Given the description of an element on the screen output the (x, y) to click on. 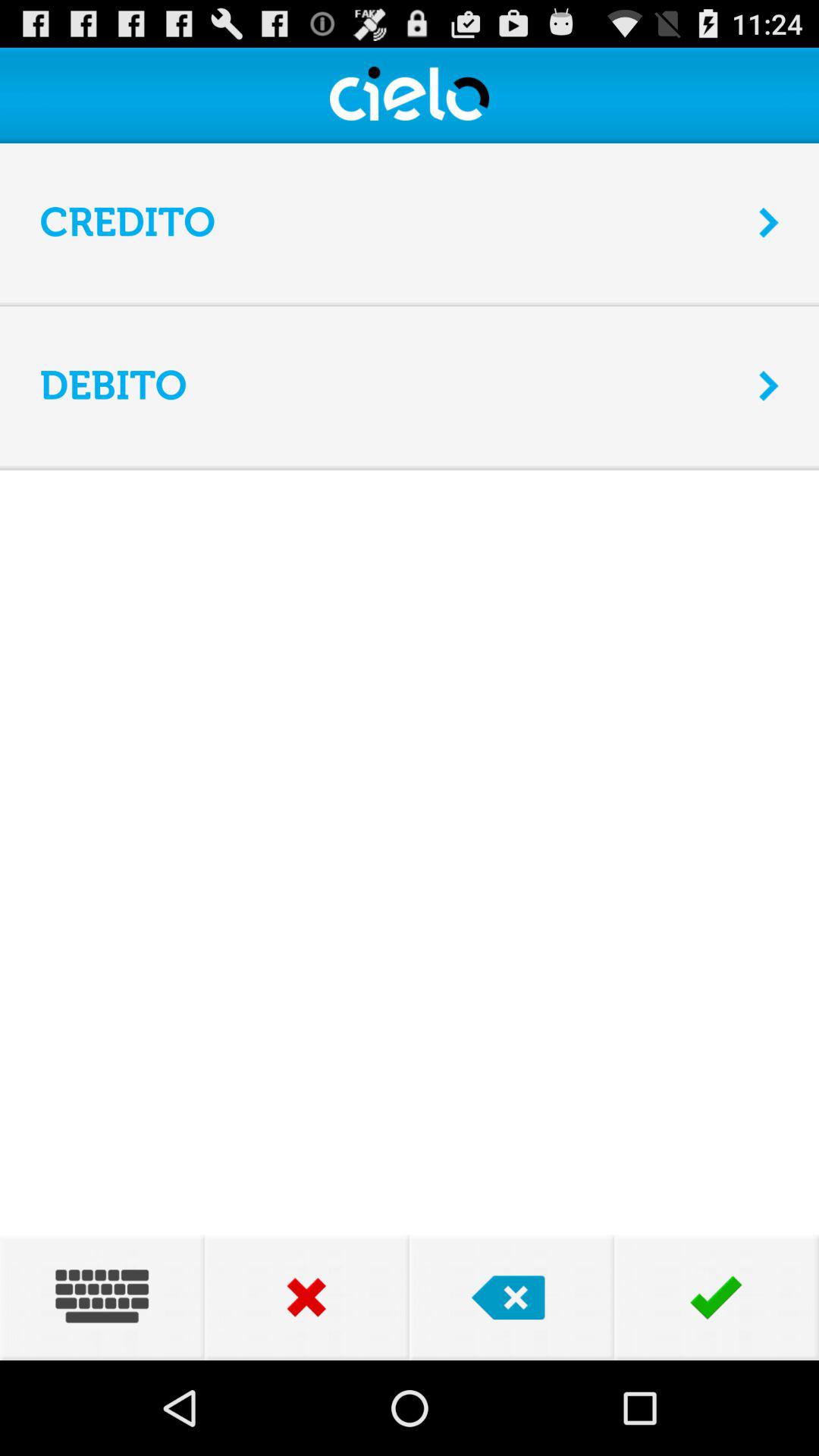
choose the app below debito icon (409, 466)
